Given the description of an element on the screen output the (x, y) to click on. 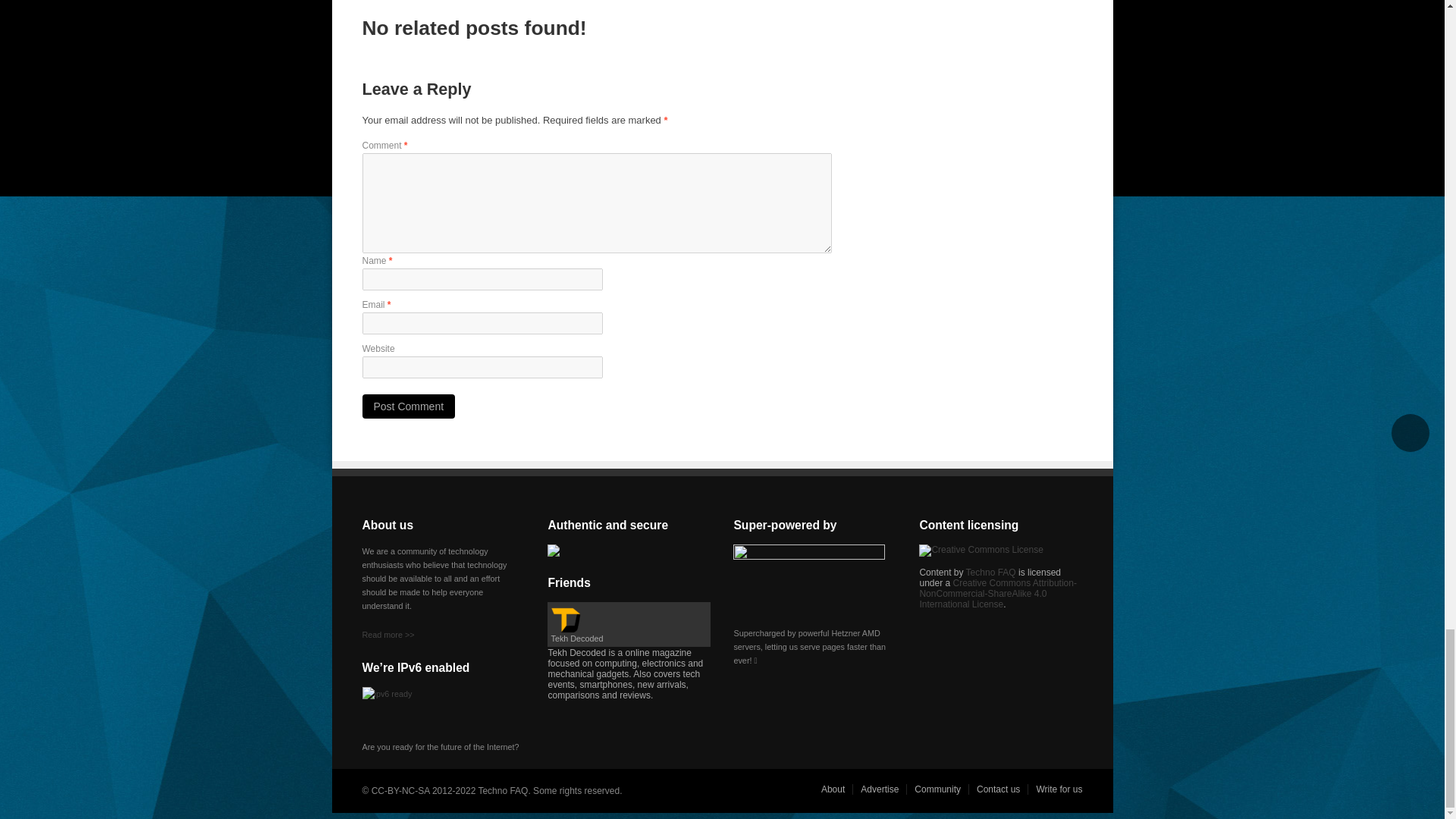
ipv6 ready (400, 705)
Post Comment (408, 405)
Post Comment (408, 405)
